Given the description of an element on the screen output the (x, y) to click on. 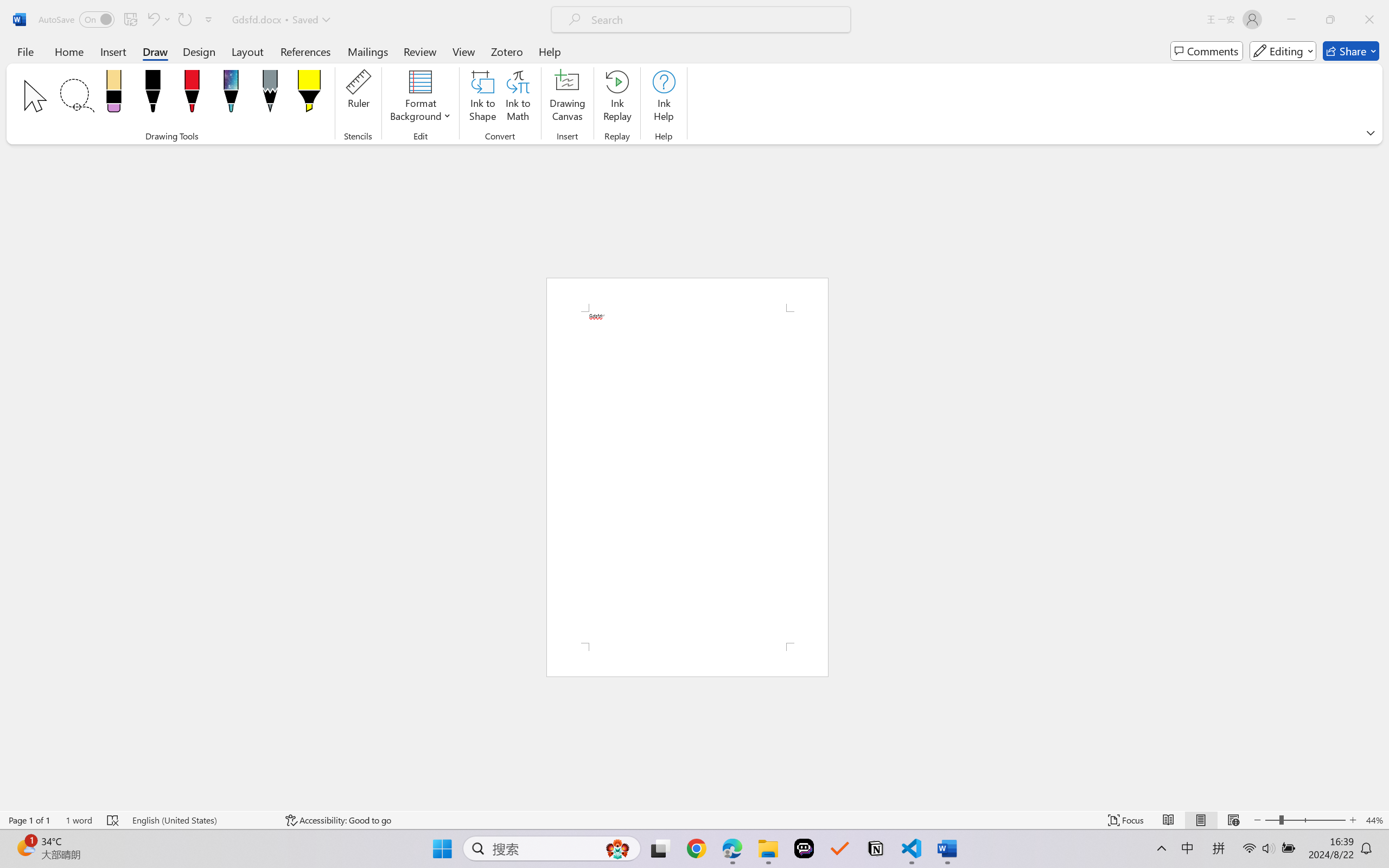
Pencil: Gray, 1 mm (270, 94)
Class: MsoCommandBar (694, 819)
Pen: Galaxy, 1 mm (230, 94)
Undo Apply Quick Style (152, 19)
Ink to Math (517, 97)
